Given the description of an element on the screen output the (x, y) to click on. 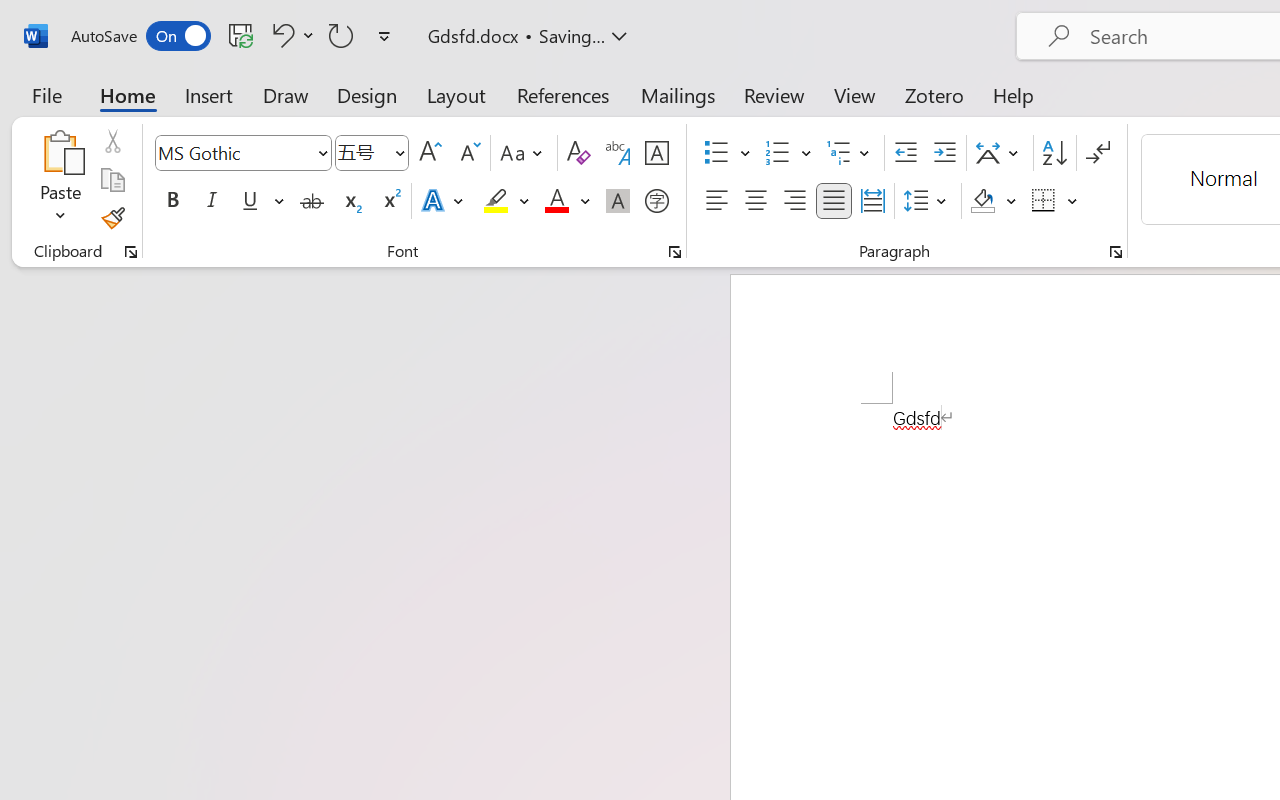
Font... (675, 252)
Center (756, 201)
Decrease Indent (906, 153)
Grow Font (430, 153)
Character Shading (618, 201)
Sort... (1054, 153)
Character Border (656, 153)
